Given the description of an element on the screen output the (x, y) to click on. 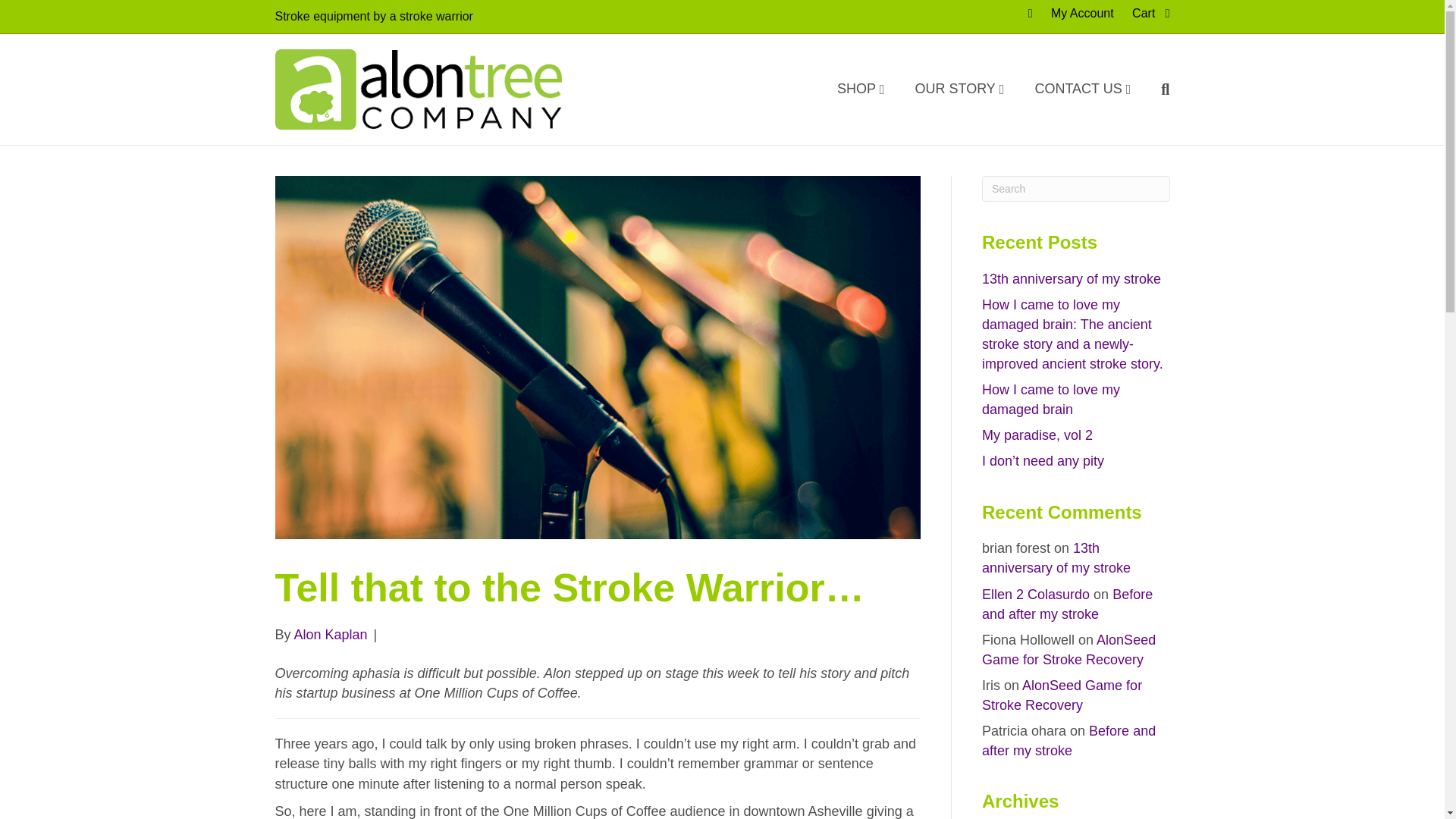
13th anniversary of my stroke (1056, 557)
13th anniversary of my stroke (1070, 278)
Type and press Enter to search. (1075, 188)
Alon Kaplan (331, 634)
My Account (1082, 13)
CONTACT US (1082, 88)
How I came to love my damaged brain (1050, 399)
Ellen 2 Colasurdo (1035, 594)
My paradise, vol 2 (1037, 435)
